Given the description of an element on the screen output the (x, y) to click on. 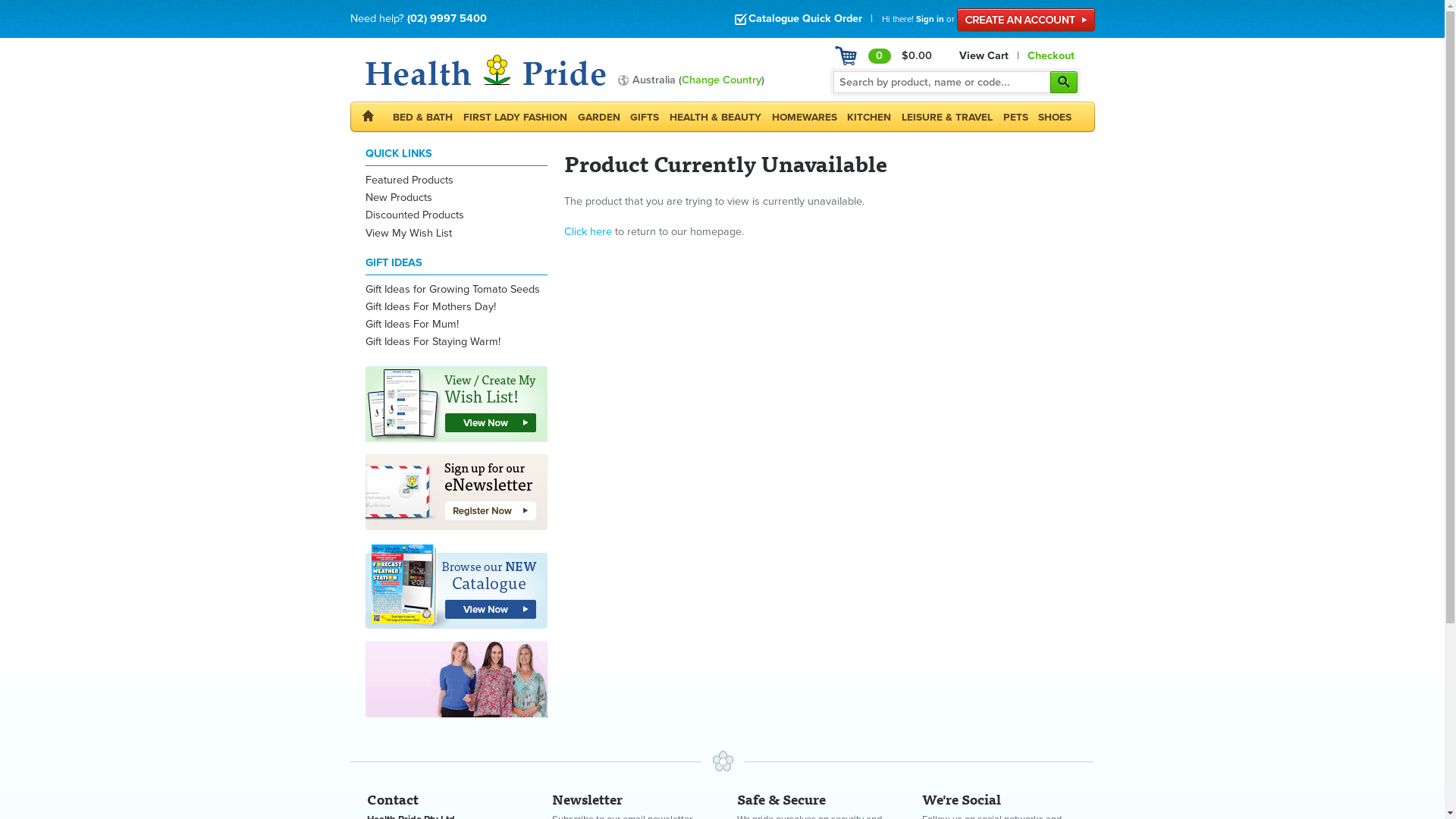
PETS Element type: text (1015, 117)
SHOES Element type: text (1054, 117)
Featured Products Element type: text (409, 179)
HOMEWARES Element type: text (804, 117)
KITCHEN Element type: text (868, 117)
Checkout Element type: text (1050, 55)
Gift Ideas for Growing Tomato Seeds Element type: text (452, 288)
BED & BATH Element type: text (423, 117)
View Cart Element type: text (983, 55)
Discounted Products Element type: text (414, 214)
Gift Ideas For Mothers Day! Element type: text (430, 306)
New Products Element type: text (398, 197)
Catalogue Quick Order Element type: text (798, 18)
GARDEN Element type: text (598, 117)
Change Country Element type: text (720, 79)
HEALTH & BEAUTY Element type: text (715, 117)
Gift Ideas For Staying Warm! Element type: text (432, 341)
View My Wish List Element type: text (408, 232)
Click here Element type: text (587, 231)
GIFTS Element type: text (644, 117)
Gift Ideas For Mum! Element type: text (411, 323)
Sign in Element type: text (930, 18)
FIRST LADY FASHION Element type: text (515, 117)
LEISURE & TRAVEL Element type: text (946, 117)
